Given the description of an element on the screen output the (x, y) to click on. 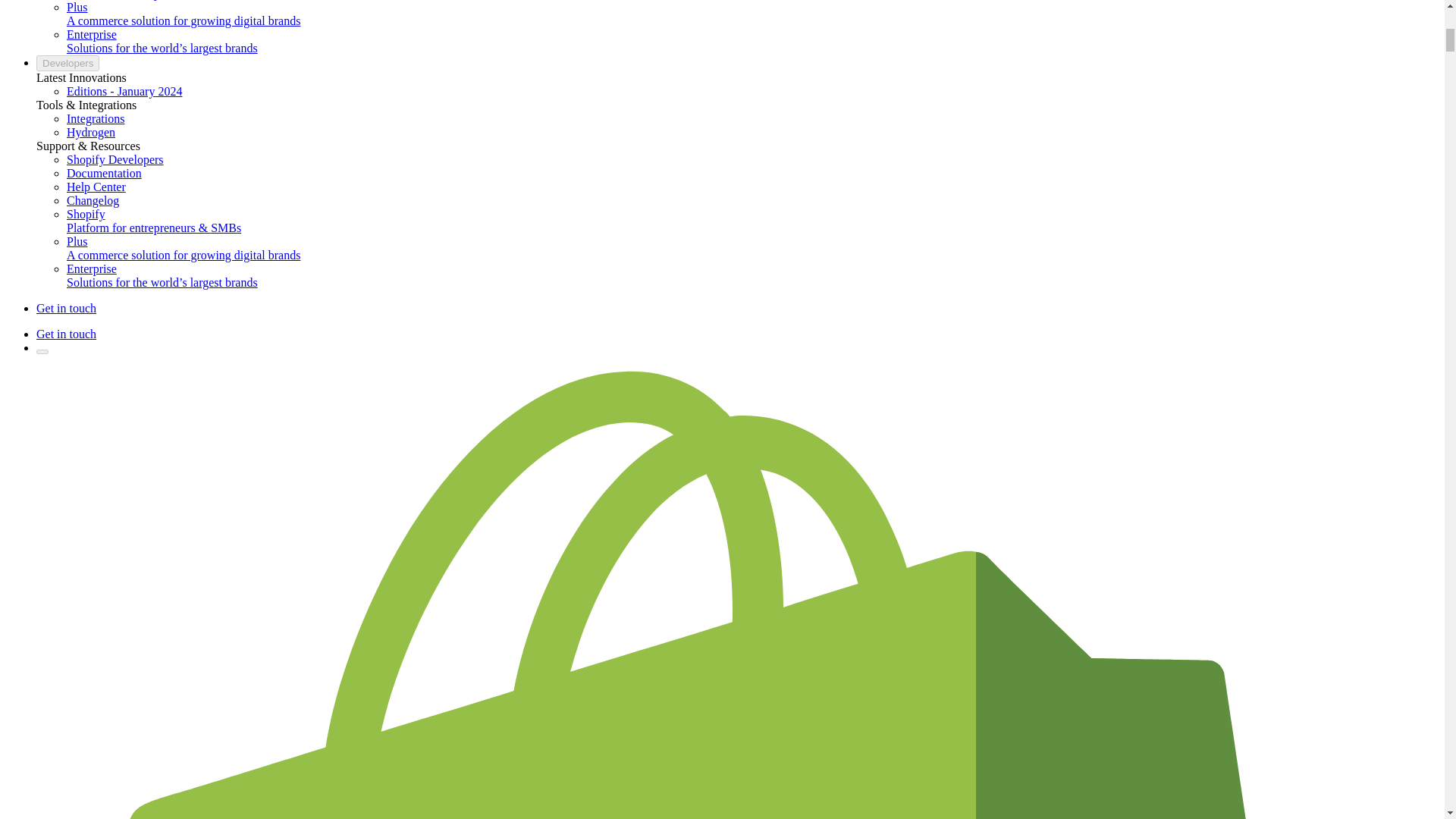
Developers (67, 63)
